Given the description of an element on the screen output the (x, y) to click on. 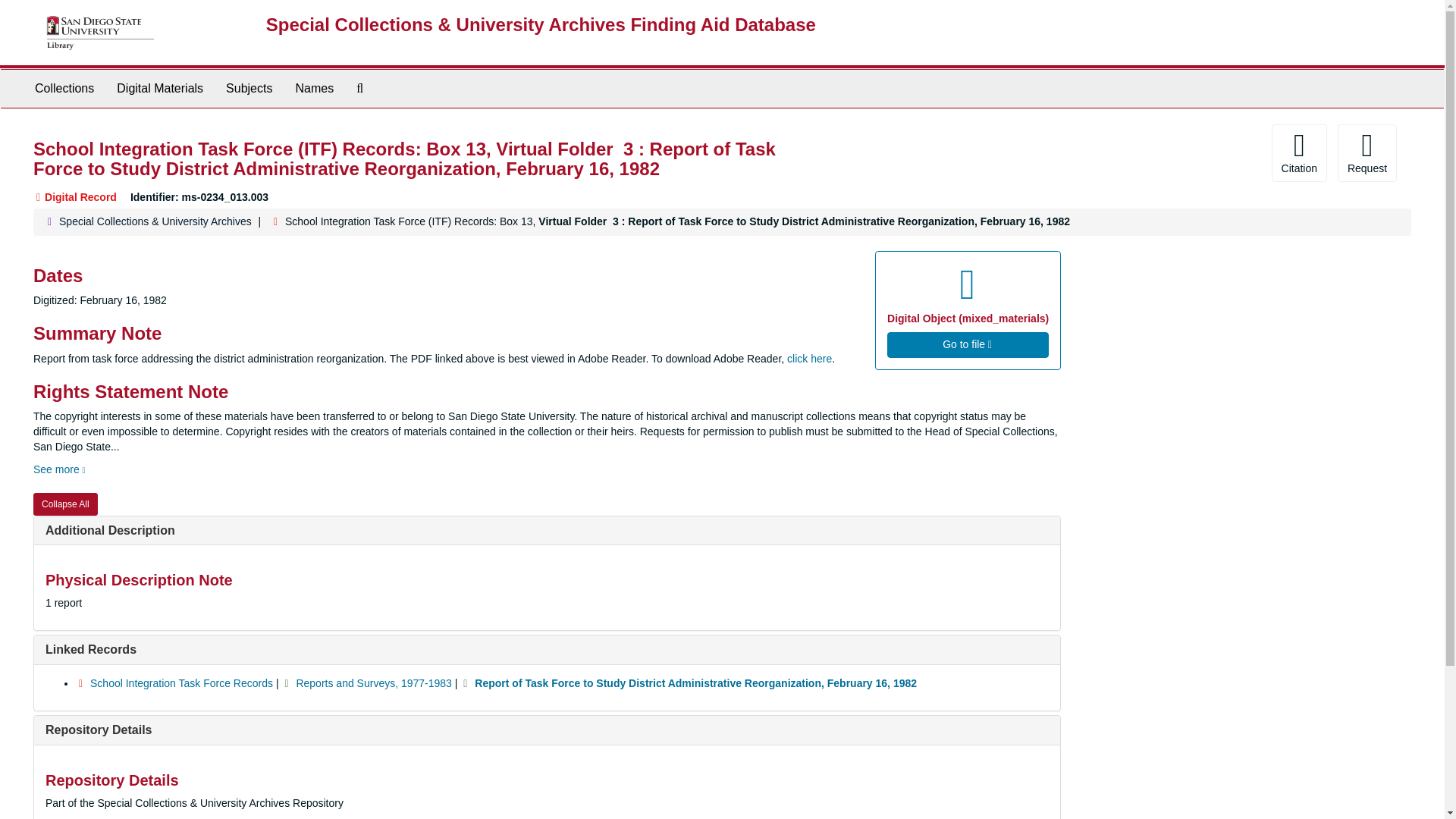
Citation (1298, 152)
Subjects (248, 88)
Collapse All (65, 504)
Reports and Surveys, 1977-1983 (373, 683)
Digital Materials (159, 88)
Request (1367, 152)
Request (1367, 152)
See more (59, 469)
click here (809, 358)
